Given the description of an element on the screen output the (x, y) to click on. 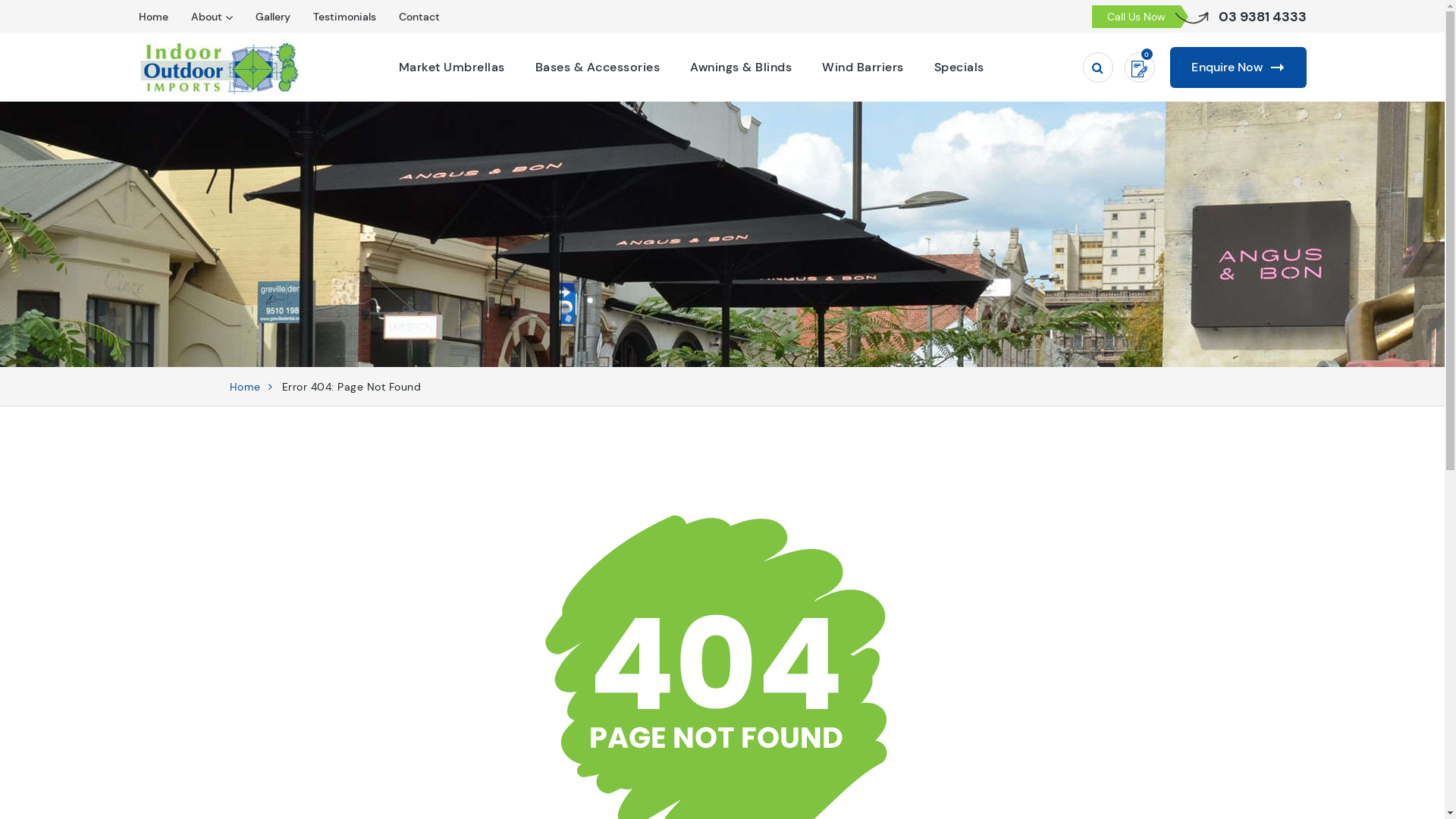
Testimonials Element type: text (343, 16)
about-banner Element type: hover (722, 234)
Home Element type: text (152, 16)
Enquire Now Element type: text (1237, 67)
Gallery Element type: text (271, 16)
Contact Element type: text (418, 16)
0 Element type: text (1138, 66)
Home Element type: text (244, 386)
Wind Barriers Element type: text (862, 67)
Market Umbrellas Element type: text (451, 67)
03 9381 4333 Element type: text (1261, 16)
logo Element type: hover (218, 66)
Awnings & Blinds Element type: text (740, 67)
About Element type: text (206, 16)
Bases & Accessories Element type: text (597, 67)
Specials Element type: text (959, 67)
